Given the description of an element on the screen output the (x, y) to click on. 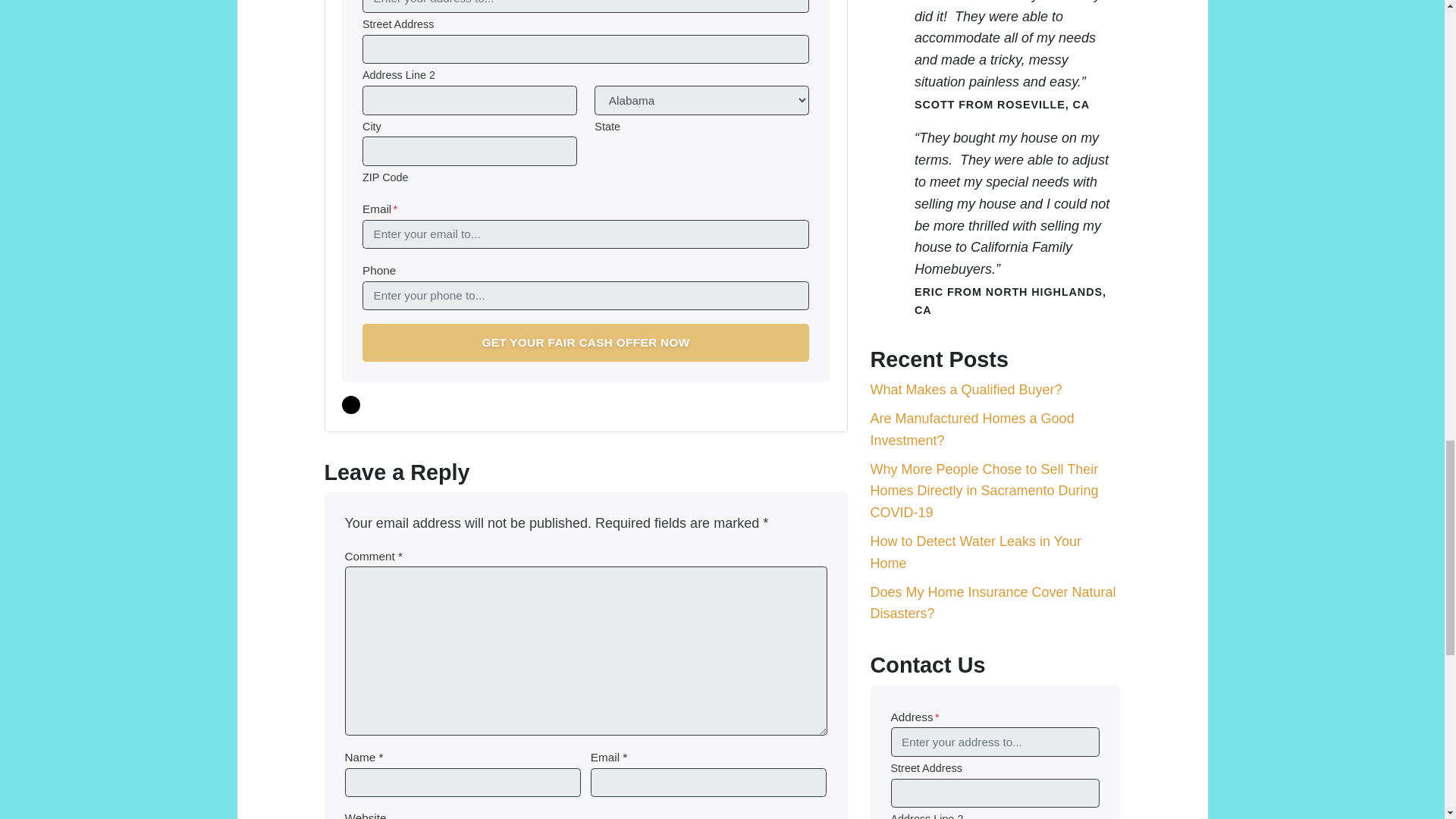
Get Your Fair Cash Offer Now (585, 342)
Facebook (350, 404)
What Makes a Qualified Buyer? (966, 389)
How to Detect Water Leaks in Your Home (975, 551)
Are Manufactured Homes a Good Investment? (972, 429)
Get Your Fair Cash Offer Now (585, 342)
Does My Home Insurance Cover Natural Disasters? (993, 601)
